Given the description of an element on the screen output the (x, y) to click on. 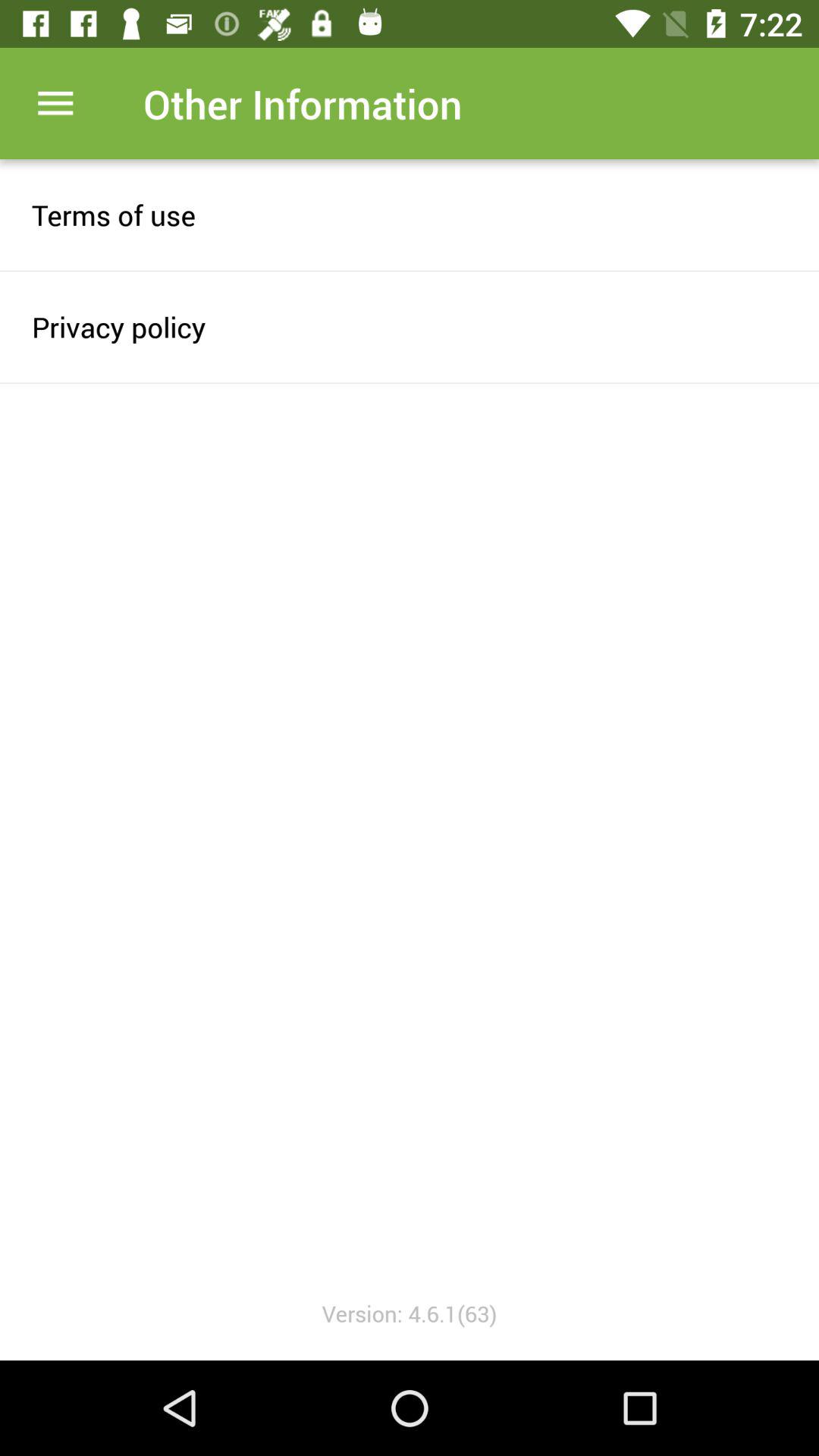
scroll until privacy policy icon (409, 326)
